Given the description of an element on the screen output the (x, y) to click on. 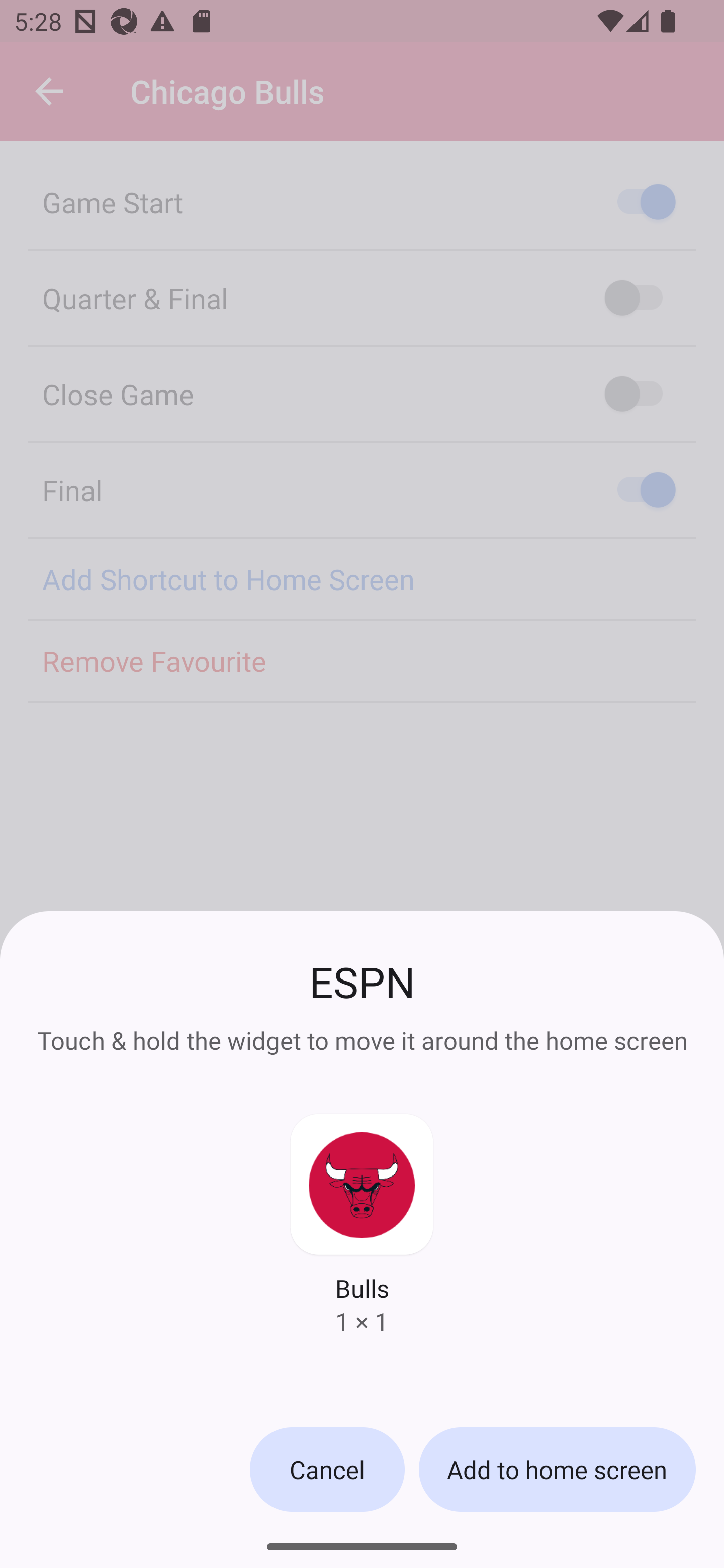
Cancel (326, 1468)
Add to home screen (556, 1468)
